Given the description of an element on the screen output the (x, y) to click on. 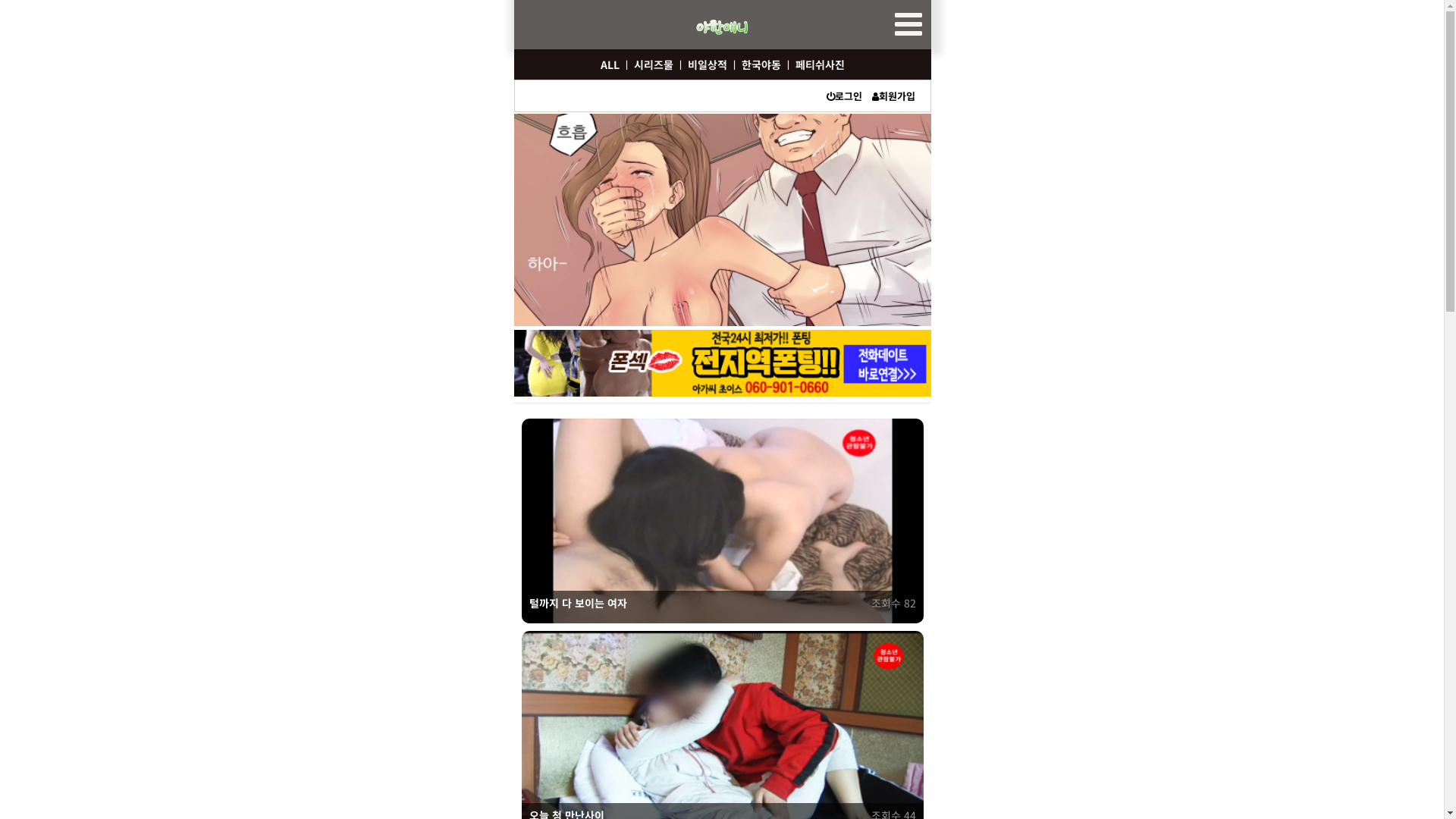
ALL Element type: text (609, 64)
